Given the description of an element on the screen output the (x, y) to click on. 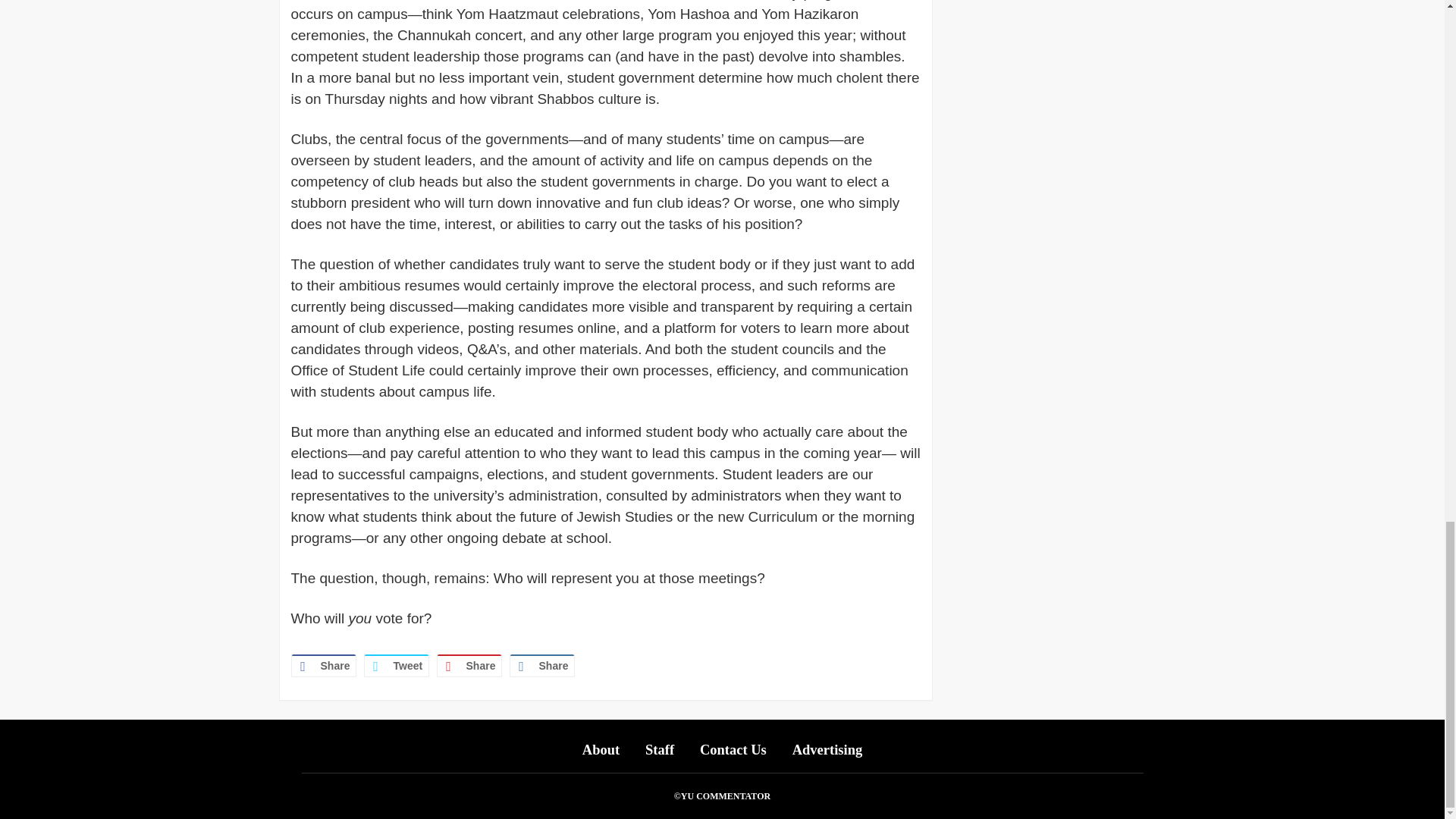
Share on LinkedIn (542, 665)
Share (542, 665)
Share on Facebook (323, 665)
Share (323, 665)
Tweet (396, 665)
Share on Twitter (396, 665)
Share on Pinterest (469, 665)
Share (469, 665)
